Given the description of an element on the screen output the (x, y) to click on. 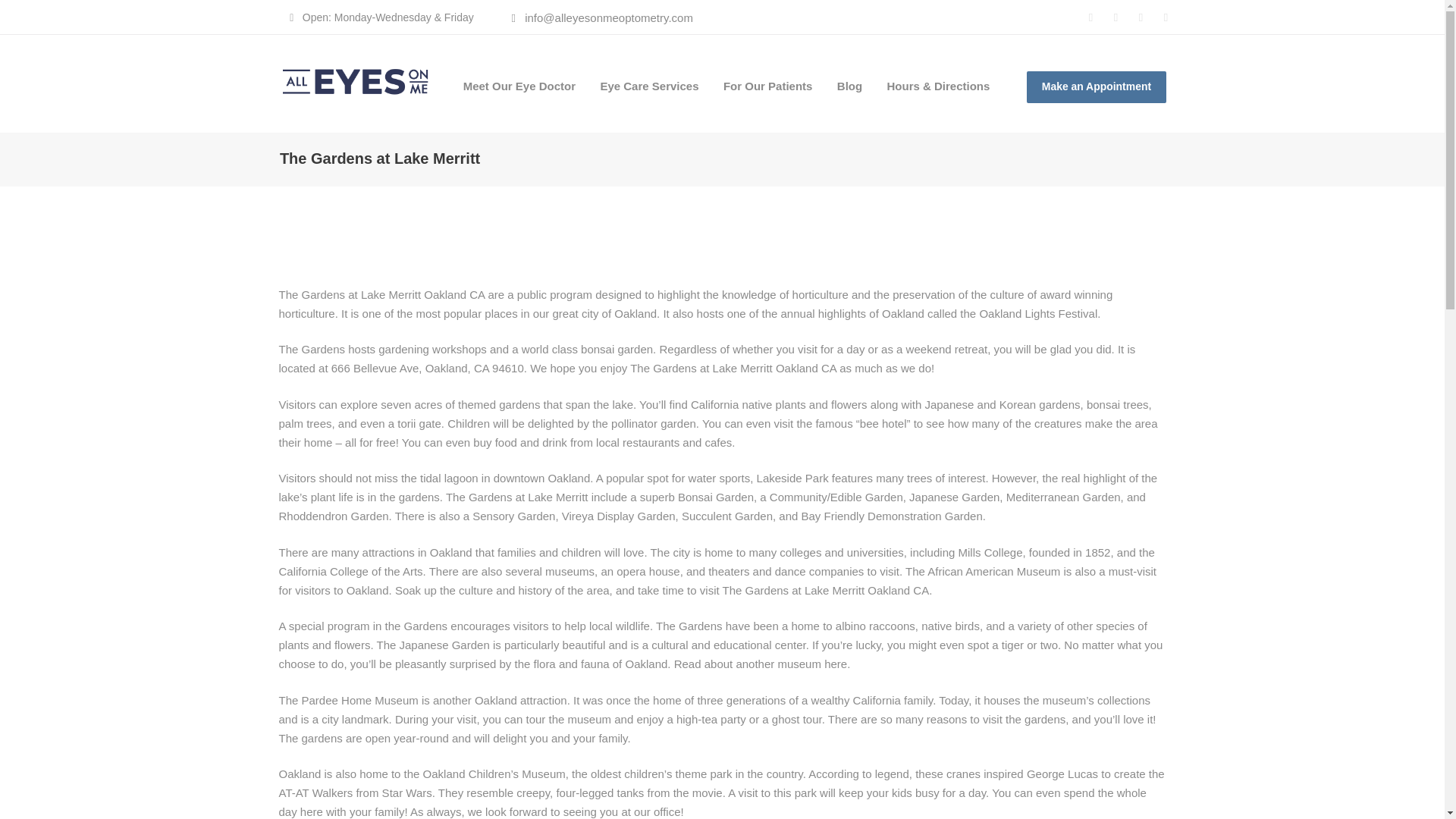
Make an Appointment (1096, 87)
Meet Our Eye Doctor (518, 86)
Eye Care Services (649, 86)
Blog (850, 86)
For Our Patients (768, 86)
